Given the description of an element on the screen output the (x, y) to click on. 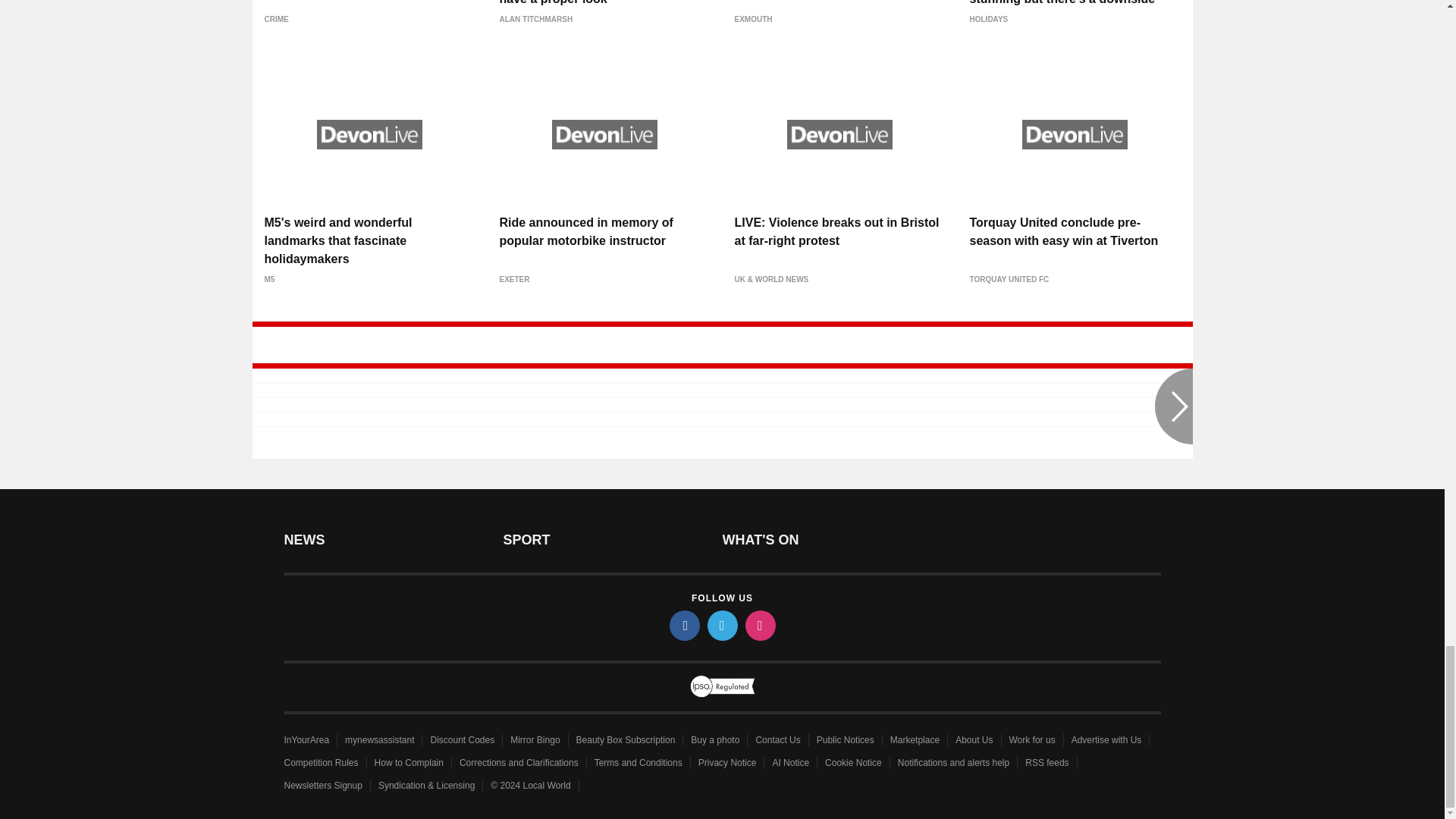
instagram (759, 625)
facebook (683, 625)
twitter (721, 625)
